Given the description of an element on the screen output the (x, y) to click on. 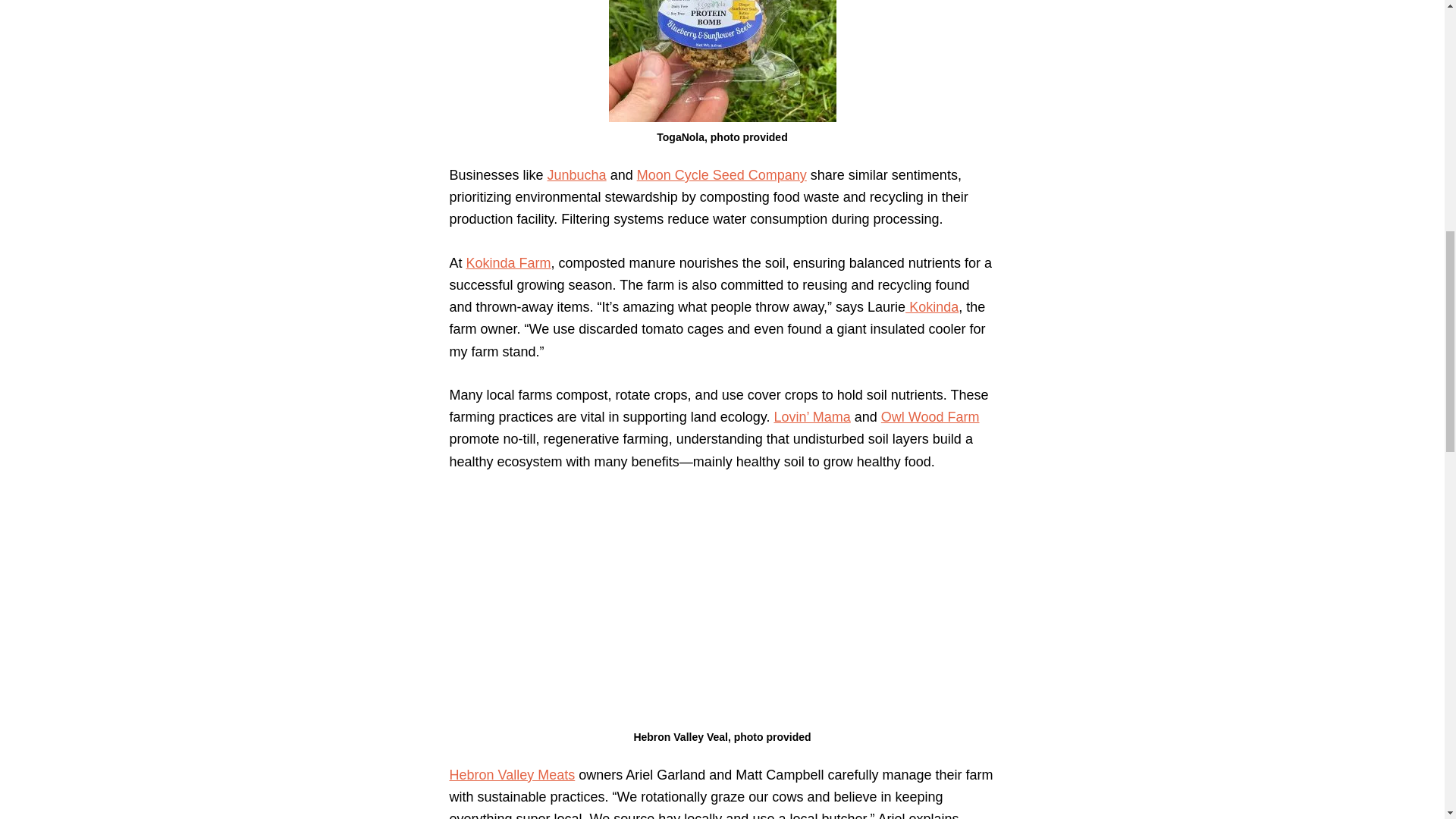
Moon Cycle Seed Company (721, 174)
Junbucha (577, 174)
Kokinda (931, 306)
Kokinda Farm (508, 263)
